Given the description of an element on the screen output the (x, y) to click on. 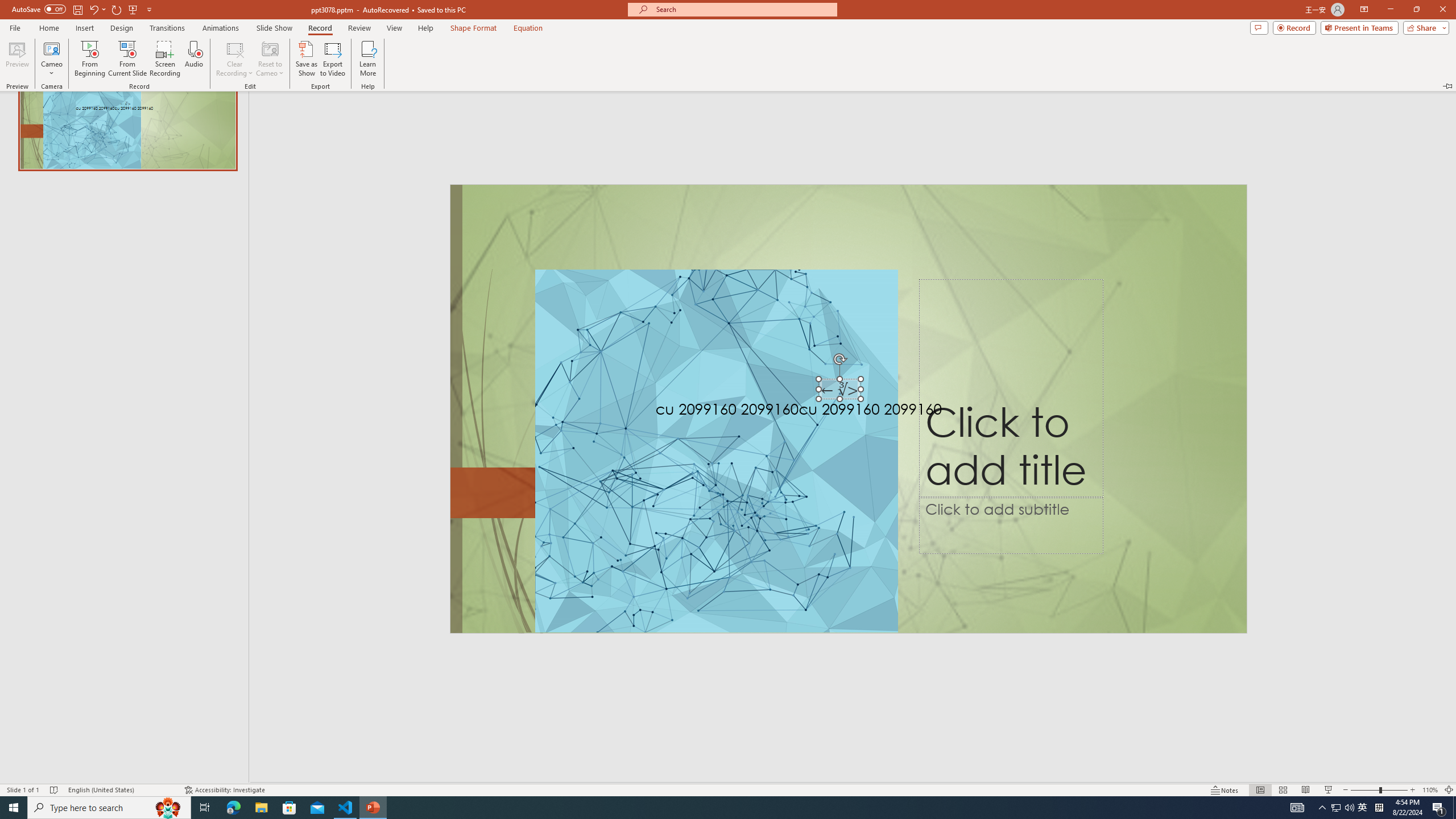
Q2790: 100% (1349, 807)
Search highlights icon opens search home window (167, 807)
PowerPoint - 1 running window (373, 807)
Tray Input Indicator - Chinese (Simplified, China) (1378, 807)
